Given the description of an element on the screen output the (x, y) to click on. 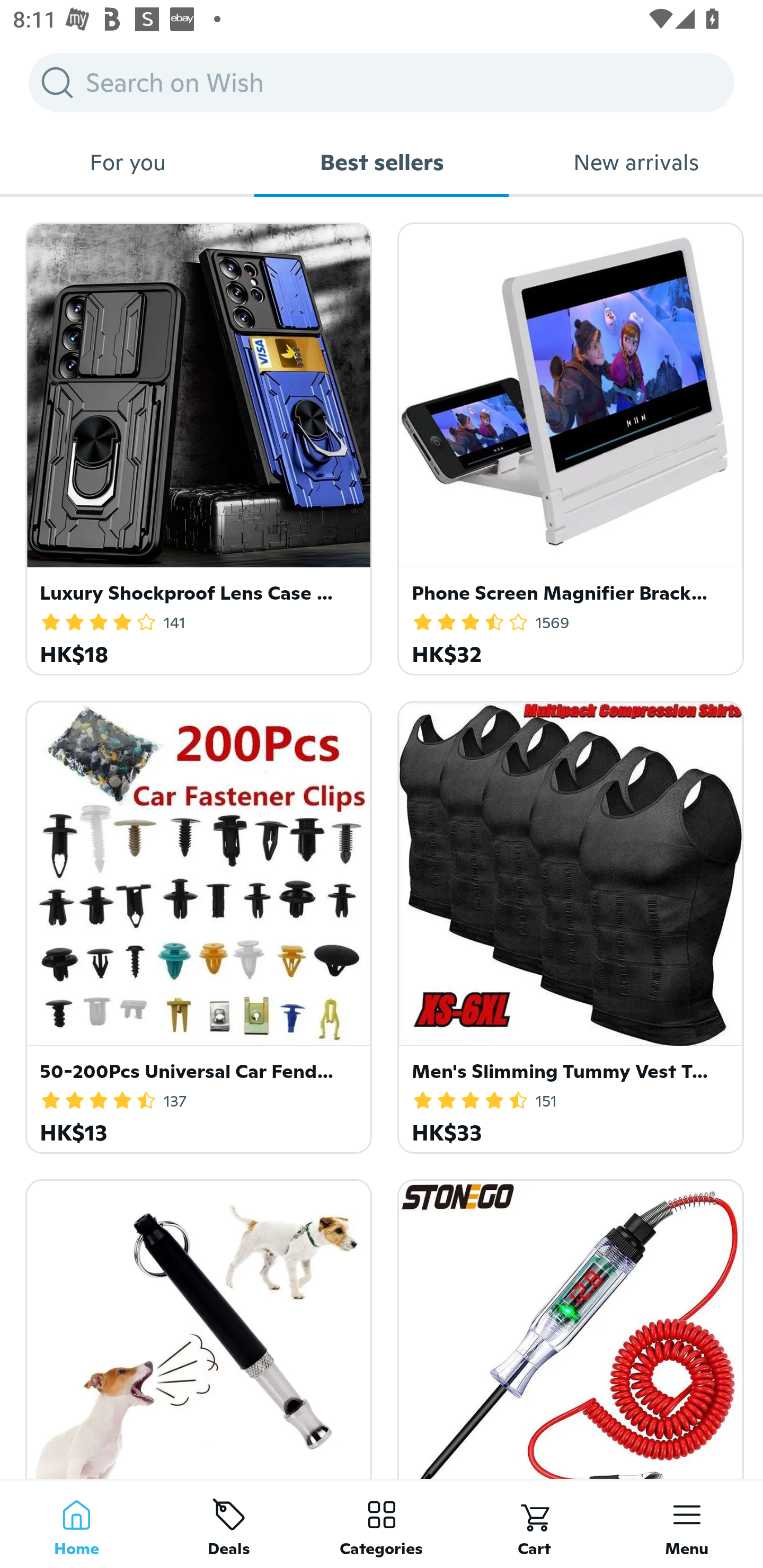
Search on Wish (381, 82)
For you (127, 161)
Best sellers (381, 161)
New arrivals (635, 161)
Home (76, 1523)
Deals (228, 1523)
Categories (381, 1523)
Cart (533, 1523)
Menu (686, 1523)
